Given the description of an element on the screen output the (x, y) to click on. 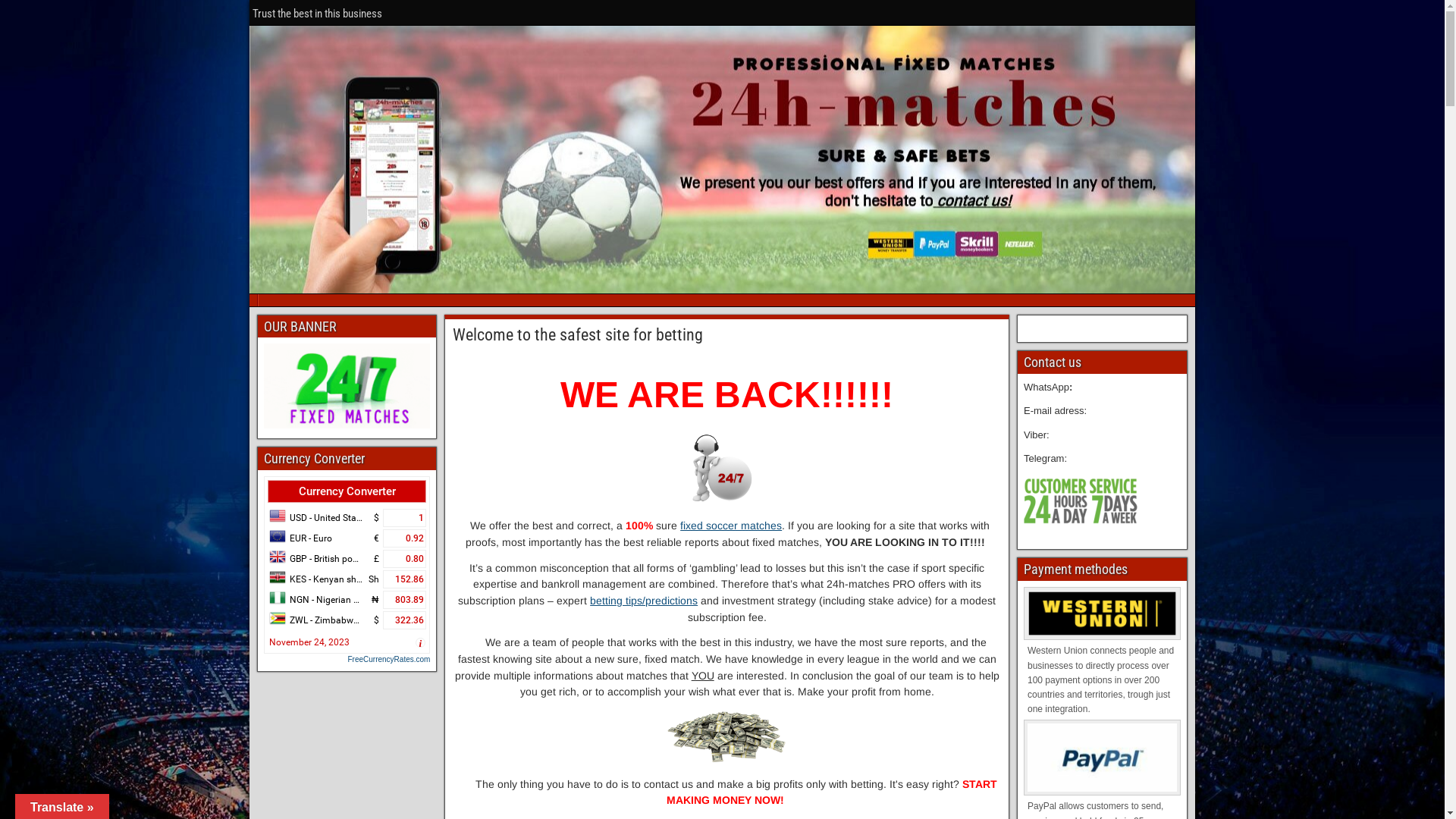
Euro Element type: hover (278, 535)
British pound Element type: hover (278, 556)
Nigerian naira Element type: hover (404, 599)
Welcome to the safest site for betting Element type: text (577, 334)
Nigerian naira Element type: hover (278, 597)
FreeCurrencyRates.com Element type: text (346, 659)
British pound Element type: hover (404, 558)
Kenyan shilling Element type: hover (278, 576)
fixed soccer matches Element type: text (730, 525)
Euro Element type: hover (404, 538)
Kenyan shilling Element type: hover (404, 579)
i Element type: text (420, 643)
Zimbabwean dollar Element type: hover (404, 620)
Currency Converter Element type: text (346, 491)
United States dollar Element type: hover (404, 517)
November 24, 2023 Element type: text (309, 642)
United States dollar Element type: hover (278, 515)
Zimbabwean dollar Element type: hover (278, 617)
betting tips/predictions Element type: text (643, 600)
